Given the description of an element on the screen output the (x, y) to click on. 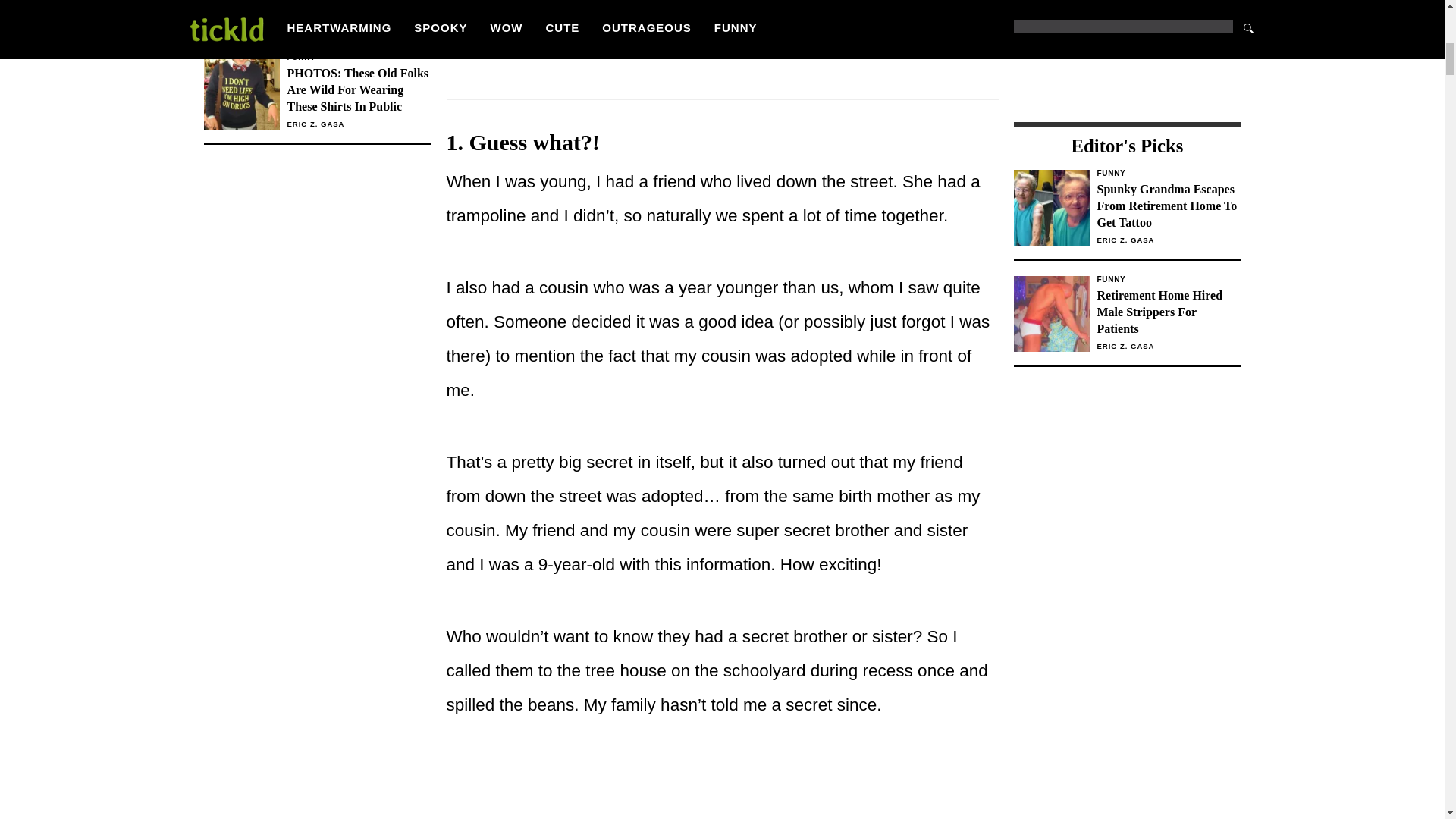
Funny (1168, 173)
Funny (1168, 279)
Retirement Home Hired Male Strippers For Patients (1168, 312)
Spunky Grandma Escapes From Retirement Home To Get Tattoo (1168, 205)
